Given the description of an element on the screen output the (x, y) to click on. 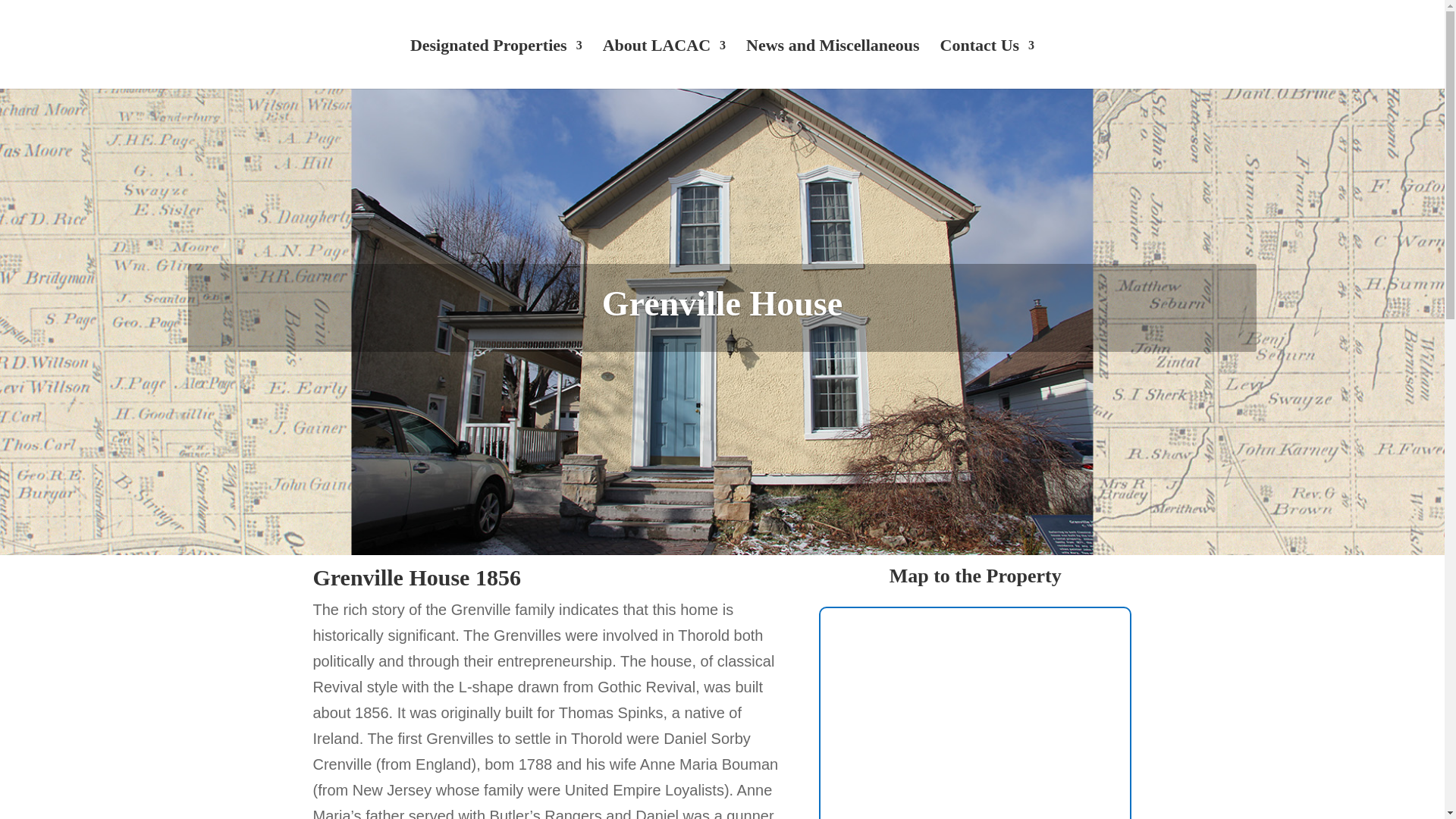
Designated Properties (496, 64)
About LACAC (663, 64)
Contact Us (987, 64)
News and Miscellaneous (832, 64)
